Given the description of an element on the screen output the (x, y) to click on. 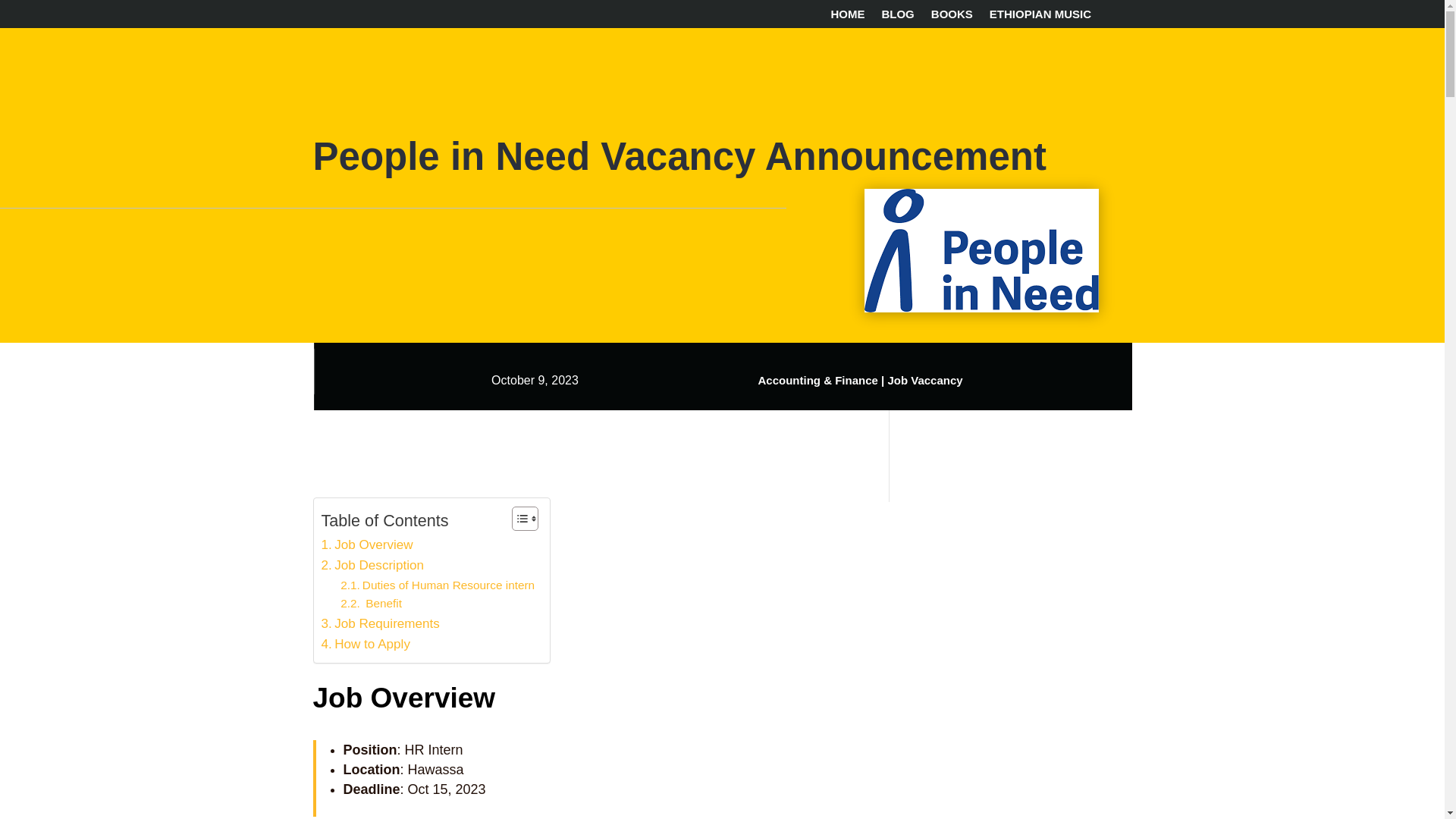
Job Requirements (380, 623)
People in Need (981, 250)
Job Description (372, 565)
HOME (846, 17)
Job Overview (367, 544)
Job Description (372, 565)
Duties of Human Resource intern (437, 585)
Job Vaccancy (924, 379)
ETHIOPIAN MUSIC (1040, 17)
